Given the description of an element on the screen output the (x, y) to click on. 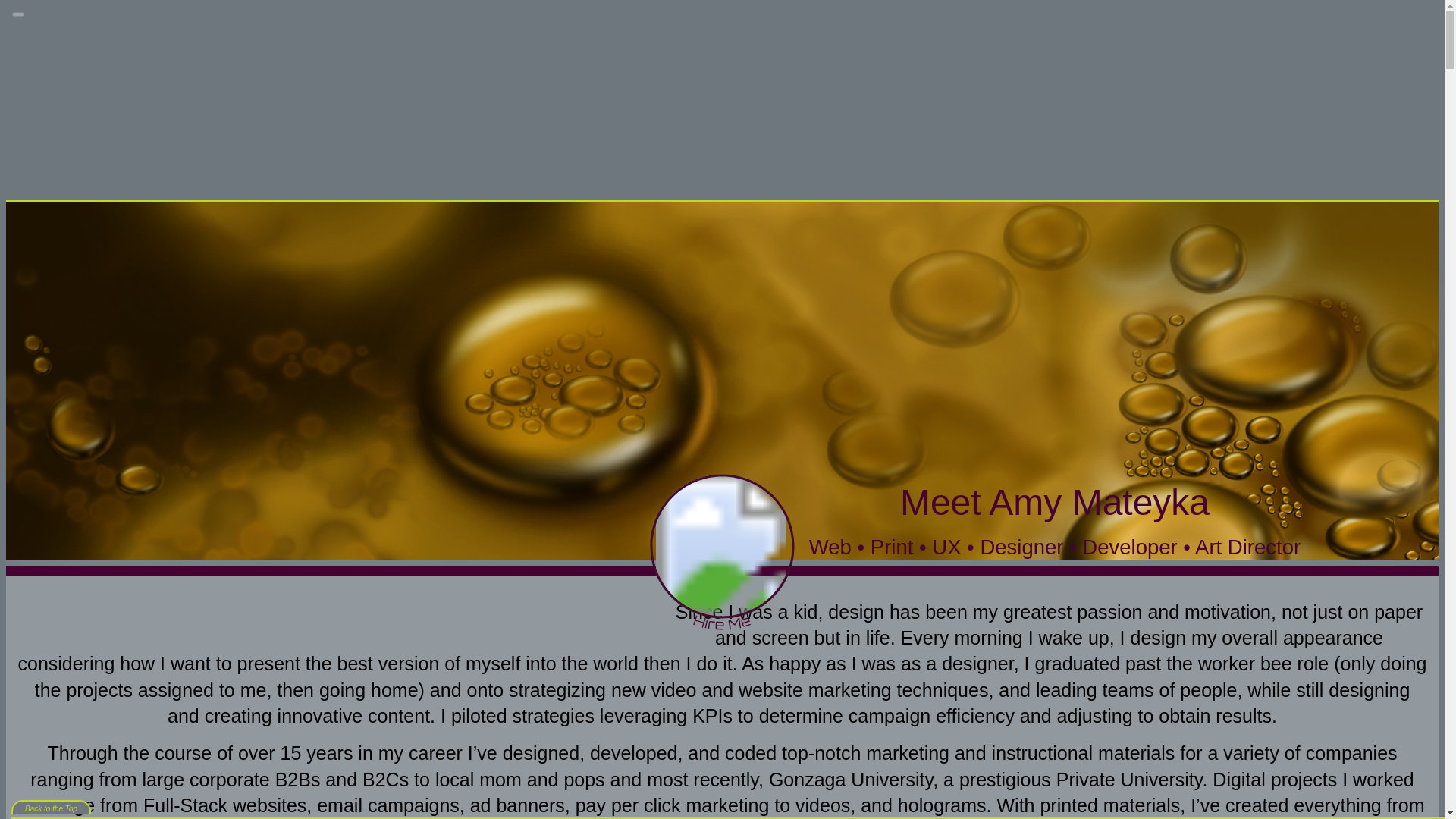
Back to the Top (50, 807)
Back to the Top (50, 808)
